Given the description of an element on the screen output the (x, y) to click on. 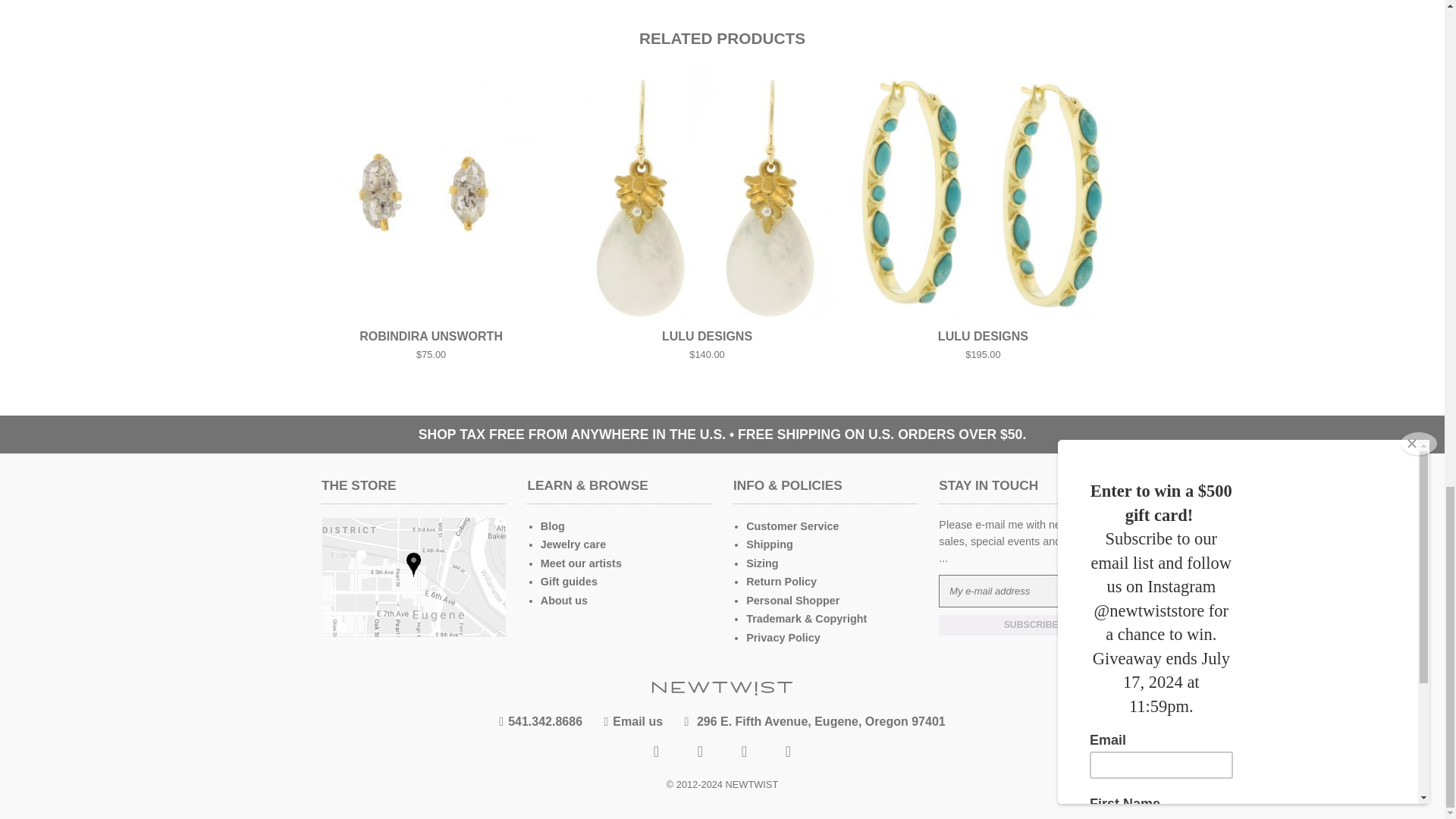
Subscribe (1030, 625)
